Given the description of an element on the screen output the (x, y) to click on. 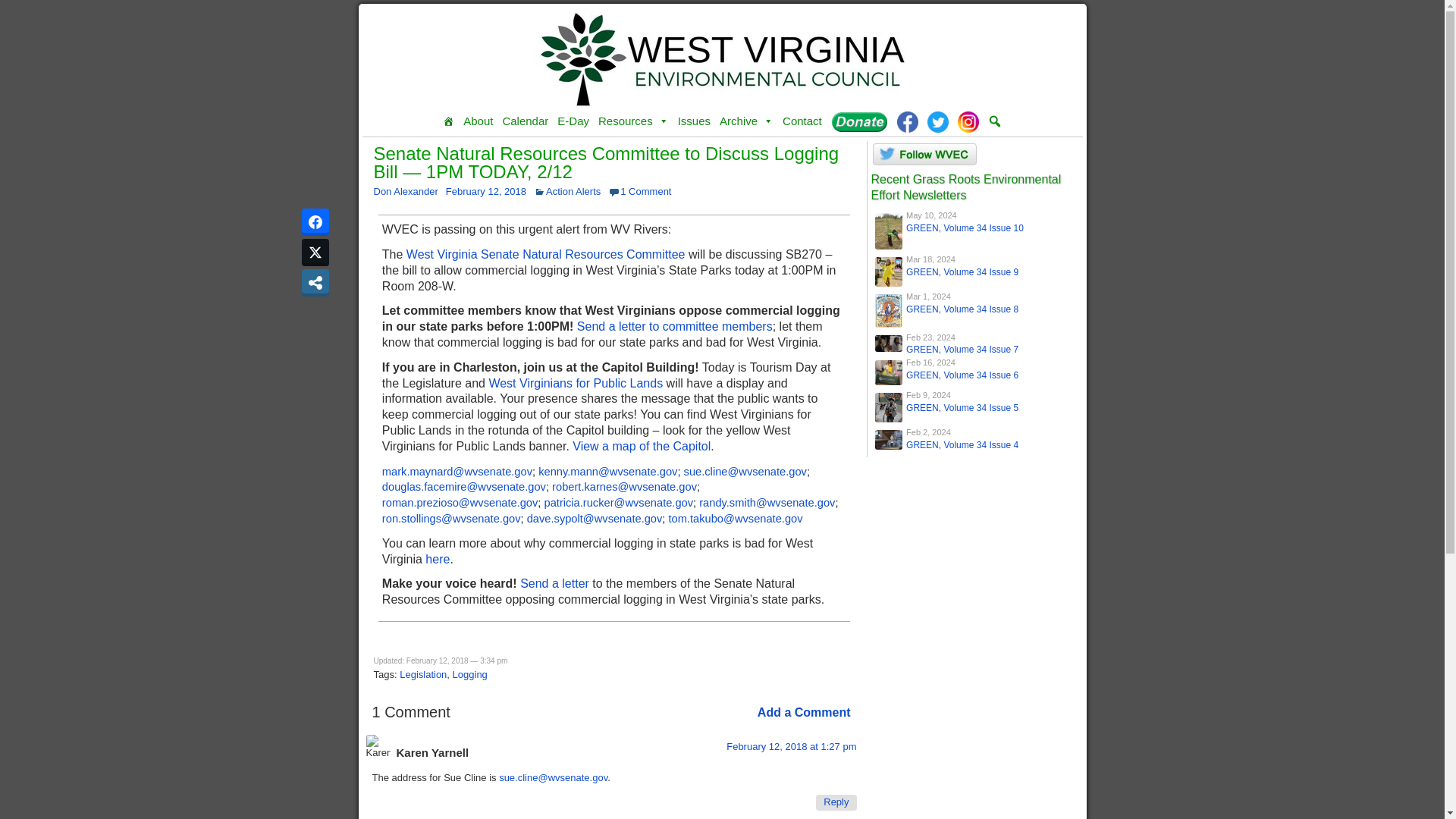
Calendar (525, 120)
1 Comment (645, 191)
Archive (745, 120)
Share on Share on Facebook (315, 221)
Action Alerts (572, 191)
Share on Tweet (315, 252)
Resources (633, 120)
Share on Share on Share (315, 282)
February 12, 2018 (485, 191)
Don Alexander (405, 191)
Issues (693, 120)
Contact (802, 120)
About (477, 120)
Search (11, 7)
E-Day (573, 120)
